Given the description of an element on the screen output the (x, y) to click on. 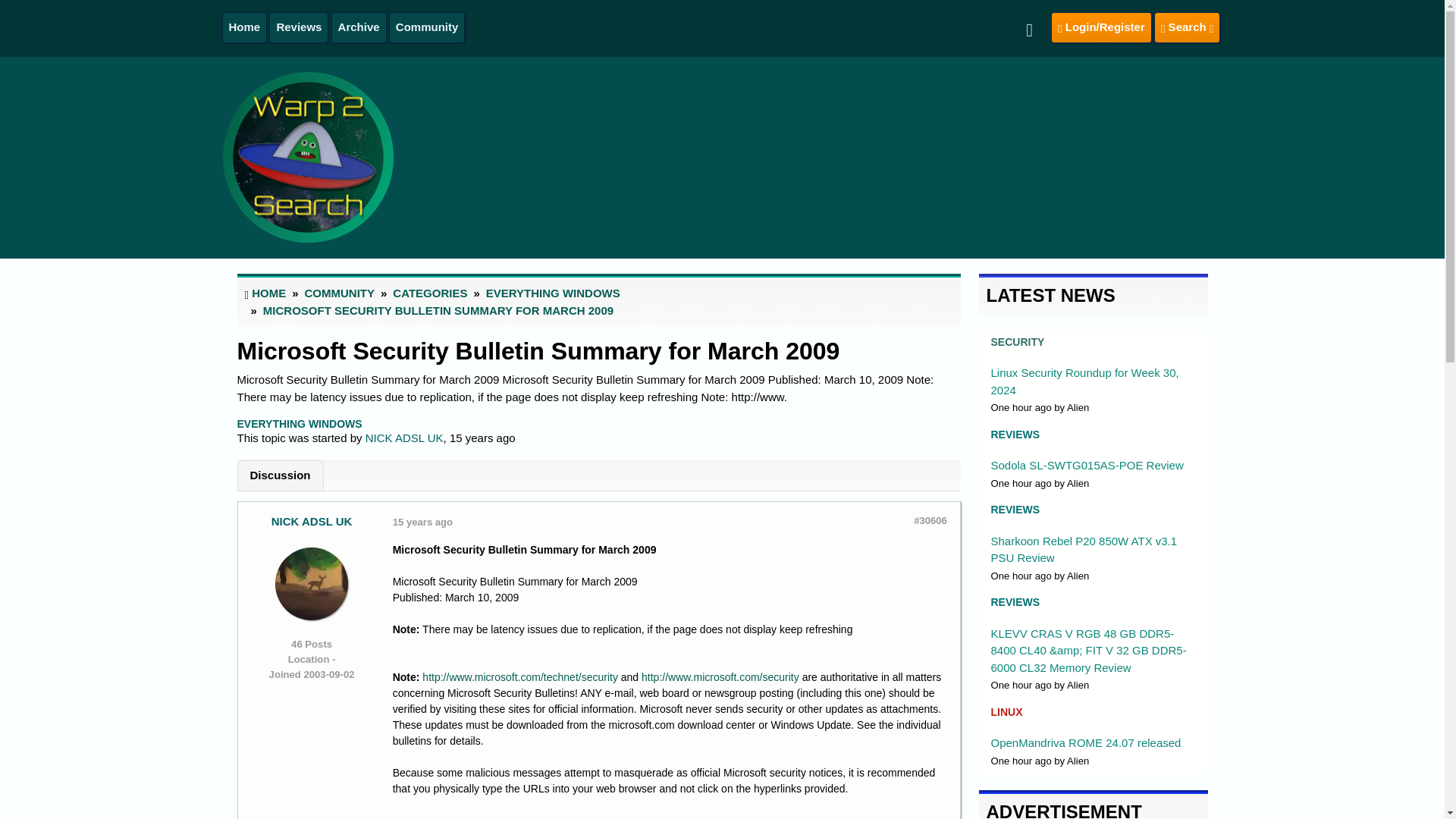
SECURITY (1016, 341)
REVIEWS (1014, 509)
Linux Security Roundup for Week 30, 2024 (1083, 381)
Sodola SL-SWTG015AS-POE Review (1086, 464)
Microsoft Security Bulletin Summary for March 2009 (537, 350)
EVERYTHING WINDOWS (298, 423)
Home (244, 27)
MICROSOFT SECURITY BULLETIN SUMMARY FOR MARCH 2009 (437, 309)
COMMUNITY (339, 292)
Archive (358, 27)
NICK ADSL UK (404, 437)
NICK ADSL UK (311, 521)
REVIEWS (1014, 434)
Community (427, 27)
